Given the description of an element on the screen output the (x, y) to click on. 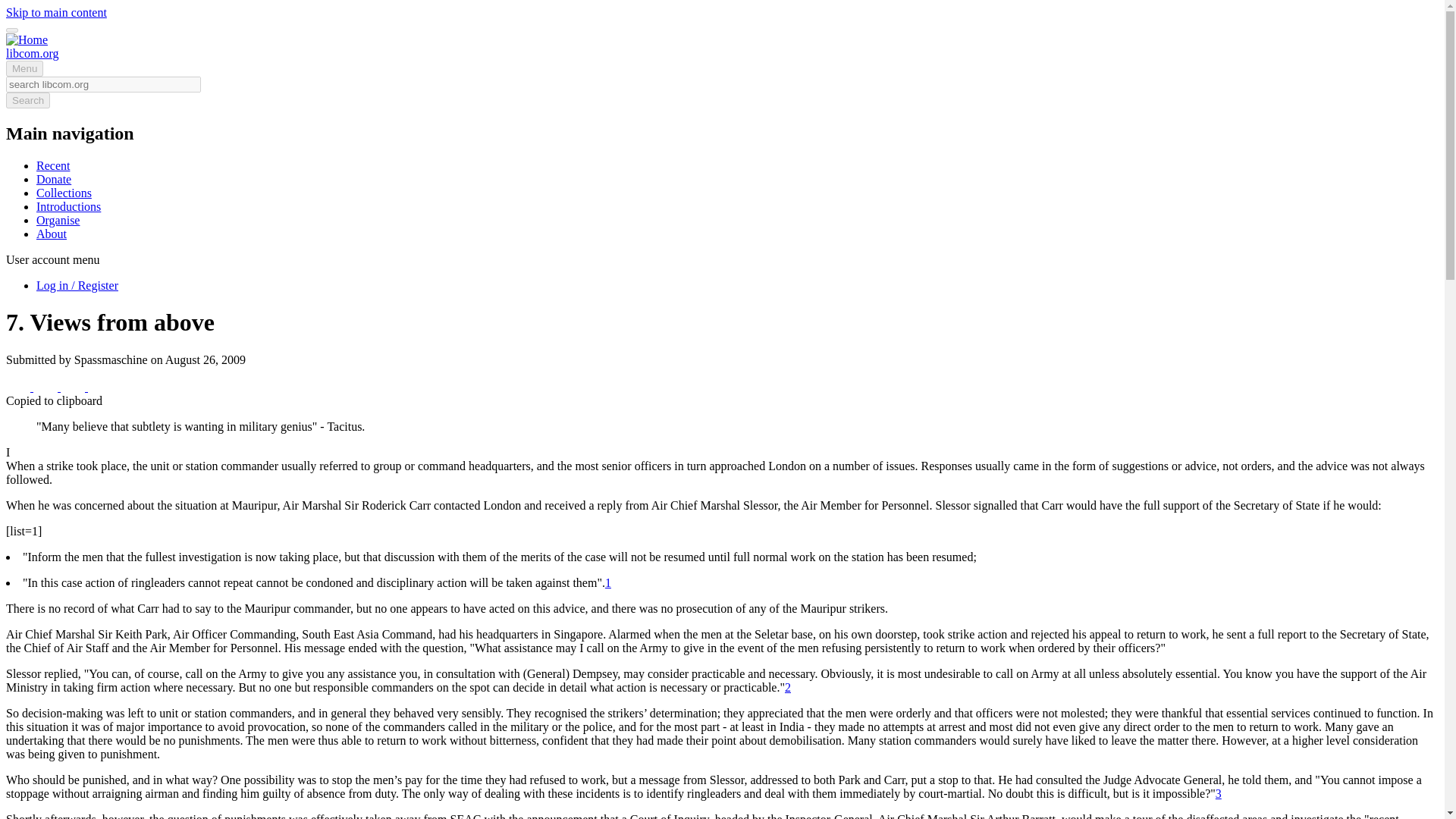
About (51, 233)
Share to Reddit (74, 386)
Menu (24, 68)
Share to Twitter (47, 386)
Skip to main content (55, 11)
Donate (53, 178)
libcom.org (31, 52)
Search (27, 100)
Share to Facebook (19, 386)
Collections (63, 192)
Introductions (68, 205)
Organise (58, 219)
Home (31, 52)
Search (27, 100)
Recent (52, 164)
